Given the description of an element on the screen output the (x, y) to click on. 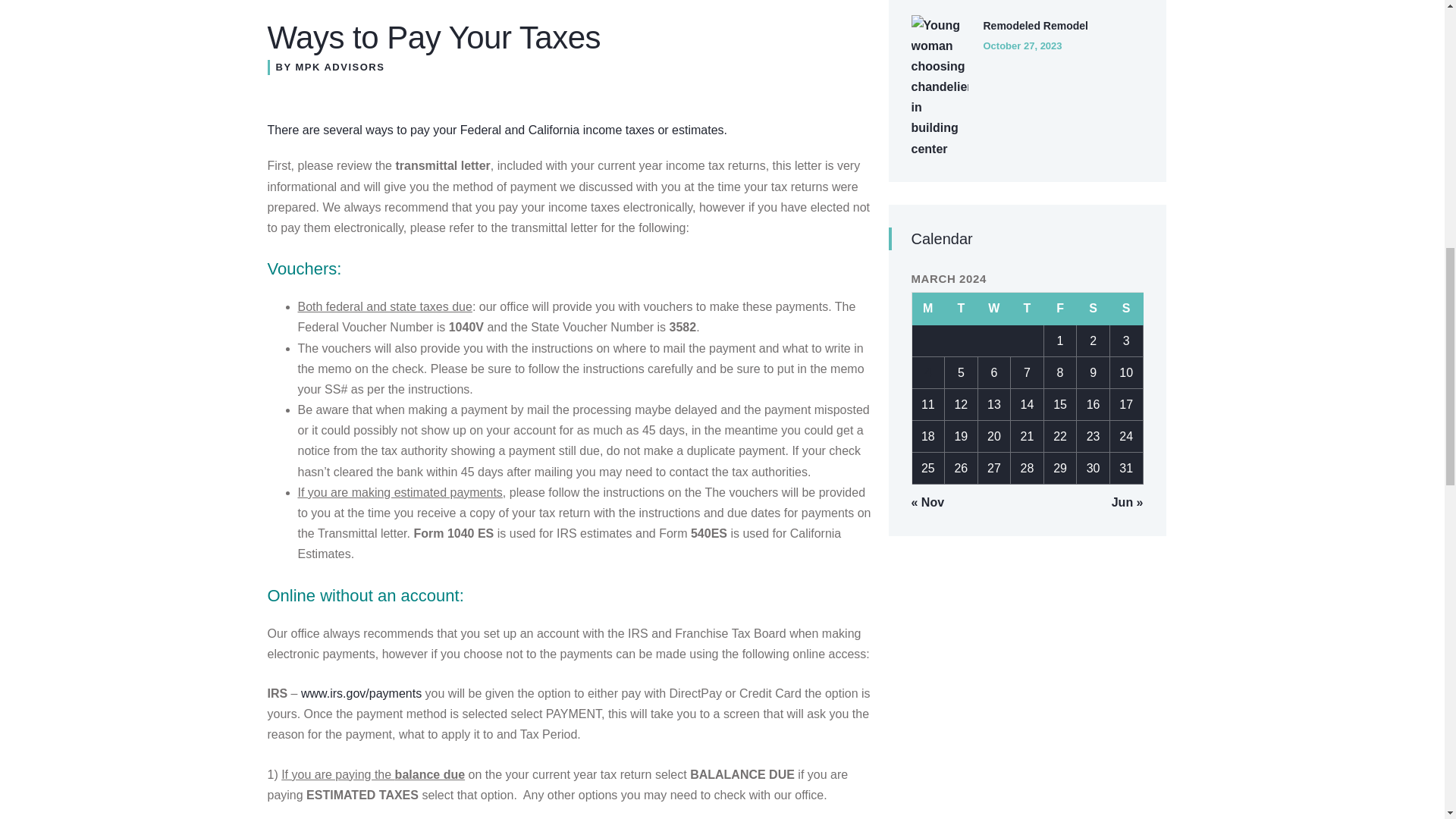
Saturday (1093, 308)
Thursday (1026, 308)
Wednesday (994, 308)
Sunday (1125, 308)
Monday (927, 308)
Tuesday (961, 308)
Friday (1060, 308)
